Given the description of an element on the screen output the (x, y) to click on. 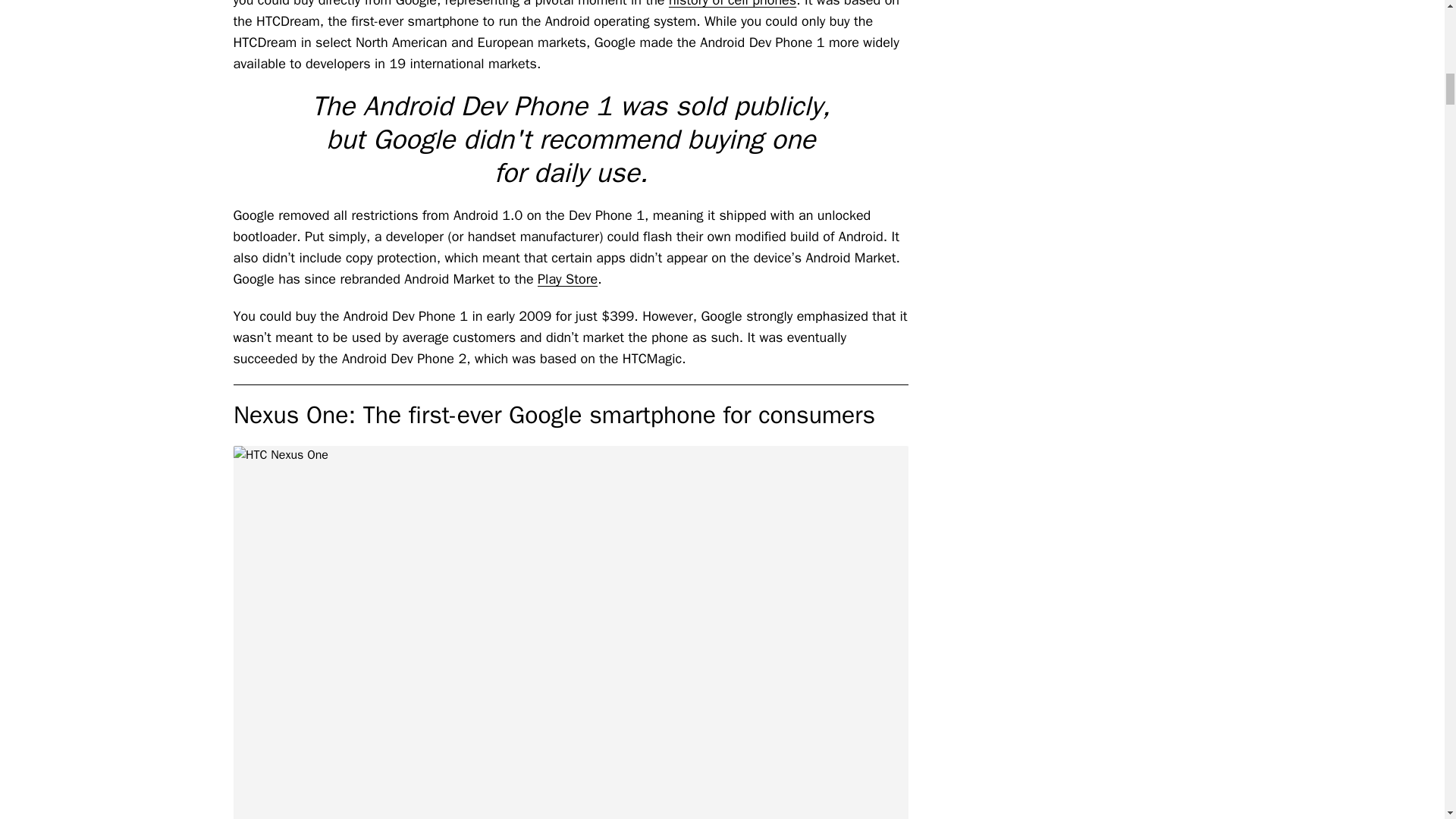
history of cell phones (732, 4)
Play Store (566, 279)
